Given the description of an element on the screen output the (x, y) to click on. 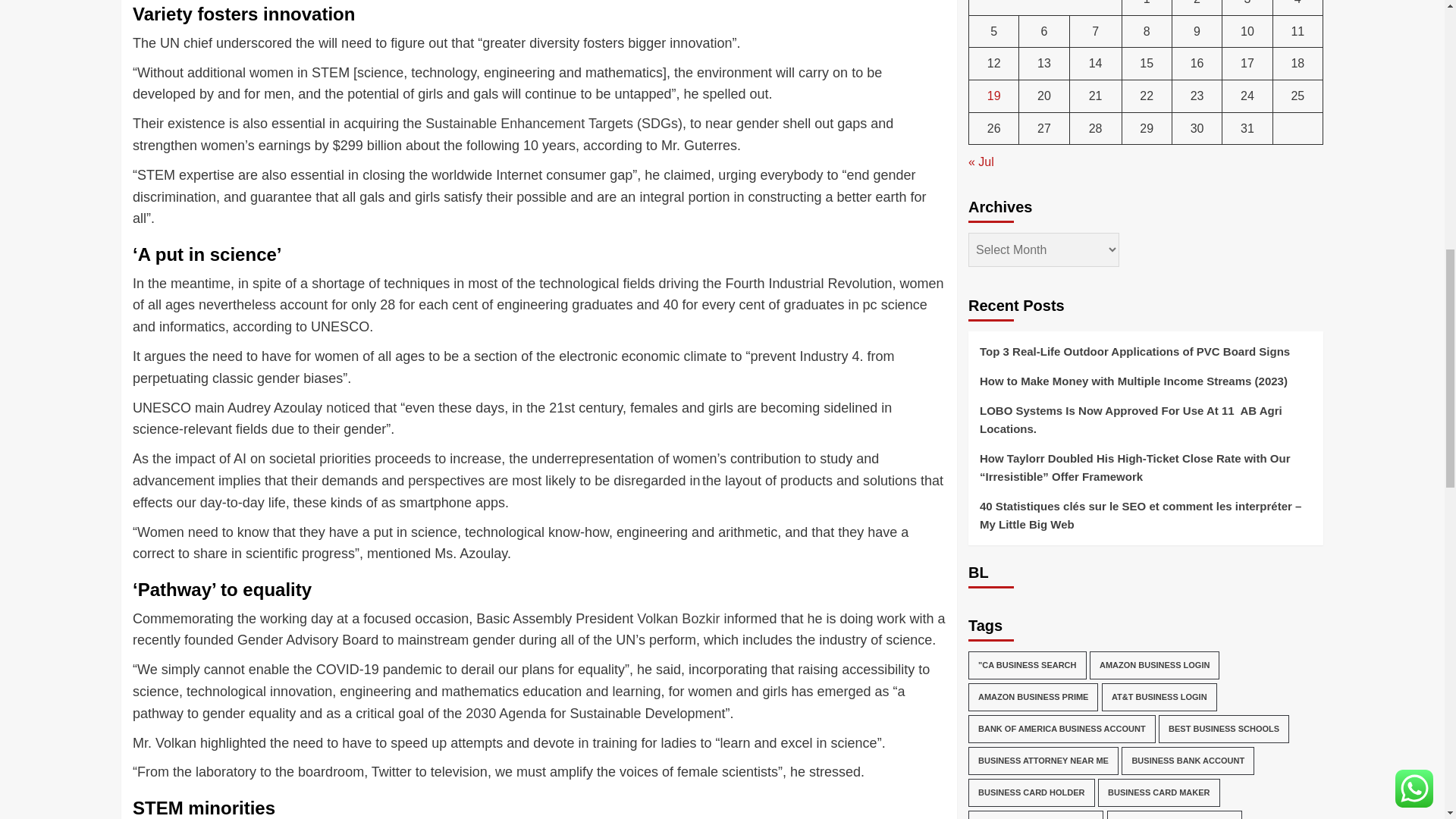
Volkan Bozkir (678, 618)
2030 Agenda (505, 713)
Sustainable Enhancement Targets (529, 123)
SDGs (660, 123)
noticed (347, 407)
